Given the description of an element on the screen output the (x, y) to click on. 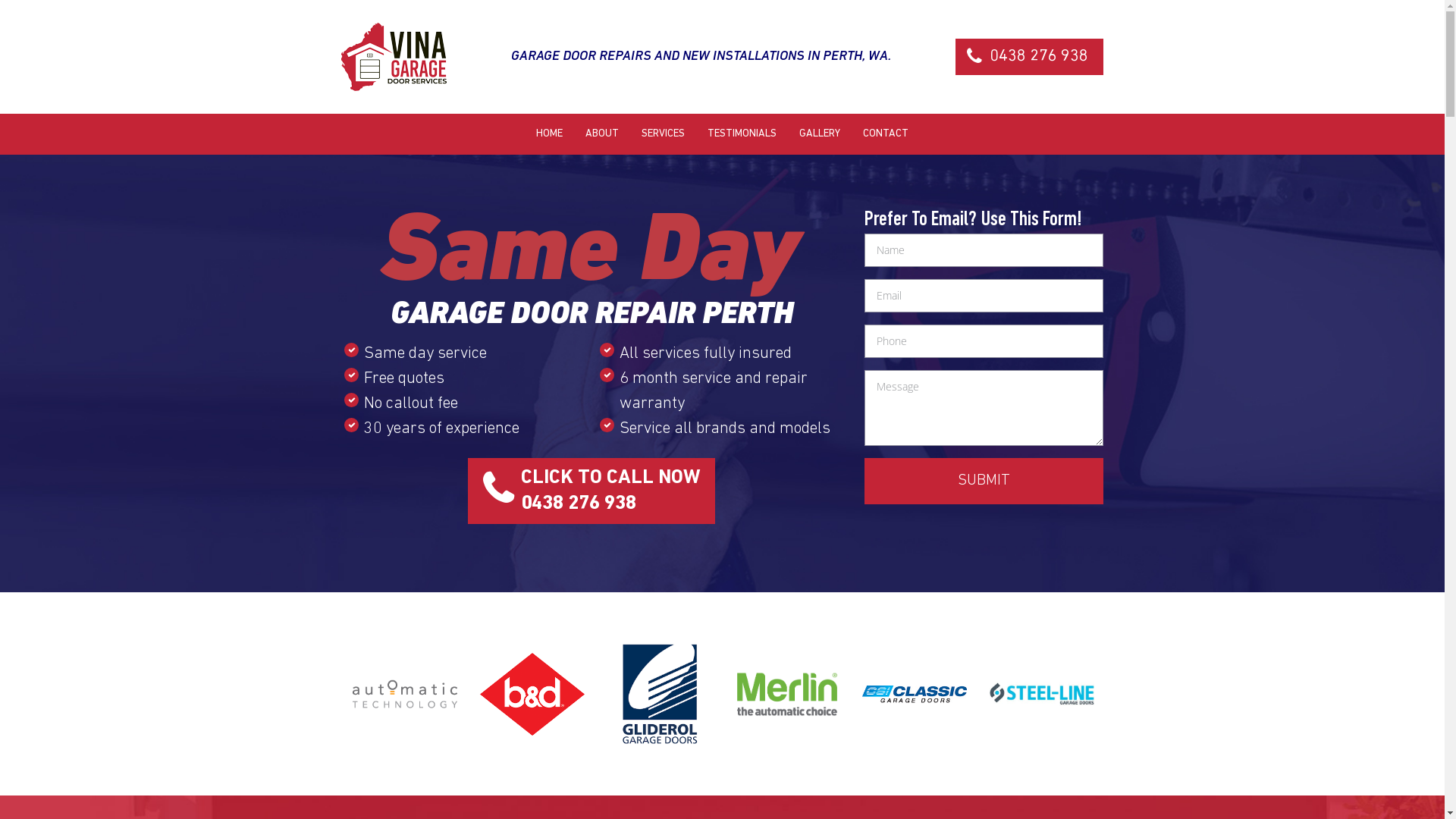
CONTACT Element type: text (885, 133)
ABOUT Element type: text (602, 133)
GALLERY Element type: text (819, 133)
0438 276 938 Element type: text (1029, 56)
TESTIMONIALS Element type: text (741, 133)
CLICK TO CALL NOW
0438 276 938 Element type: text (591, 491)
HOME Element type: text (549, 133)
Submit Element type: text (983, 481)
SERVICES Element type: text (663, 133)
